Given the description of an element on the screen output the (x, y) to click on. 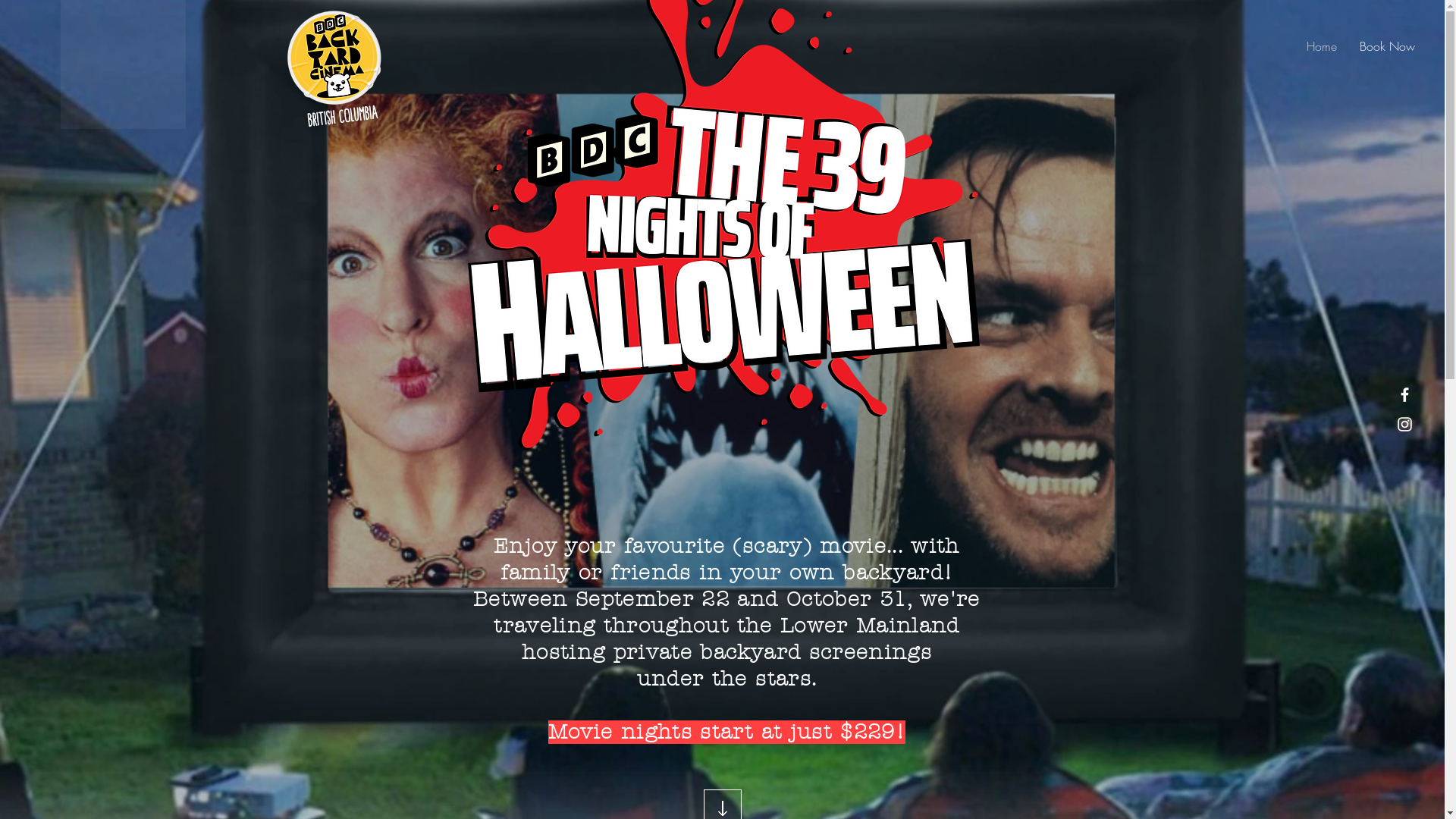
Home Element type: text (1321, 46)
39 NIGHTS OF HALLOWEEN LOGO (4).png Element type: hover (722, 229)
Book Now Element type: text (1387, 46)
BACKYARD CINEMA LOGO 2020 (2).png Element type: hover (333, 66)
